Given the description of an element on the screen output the (x, y) to click on. 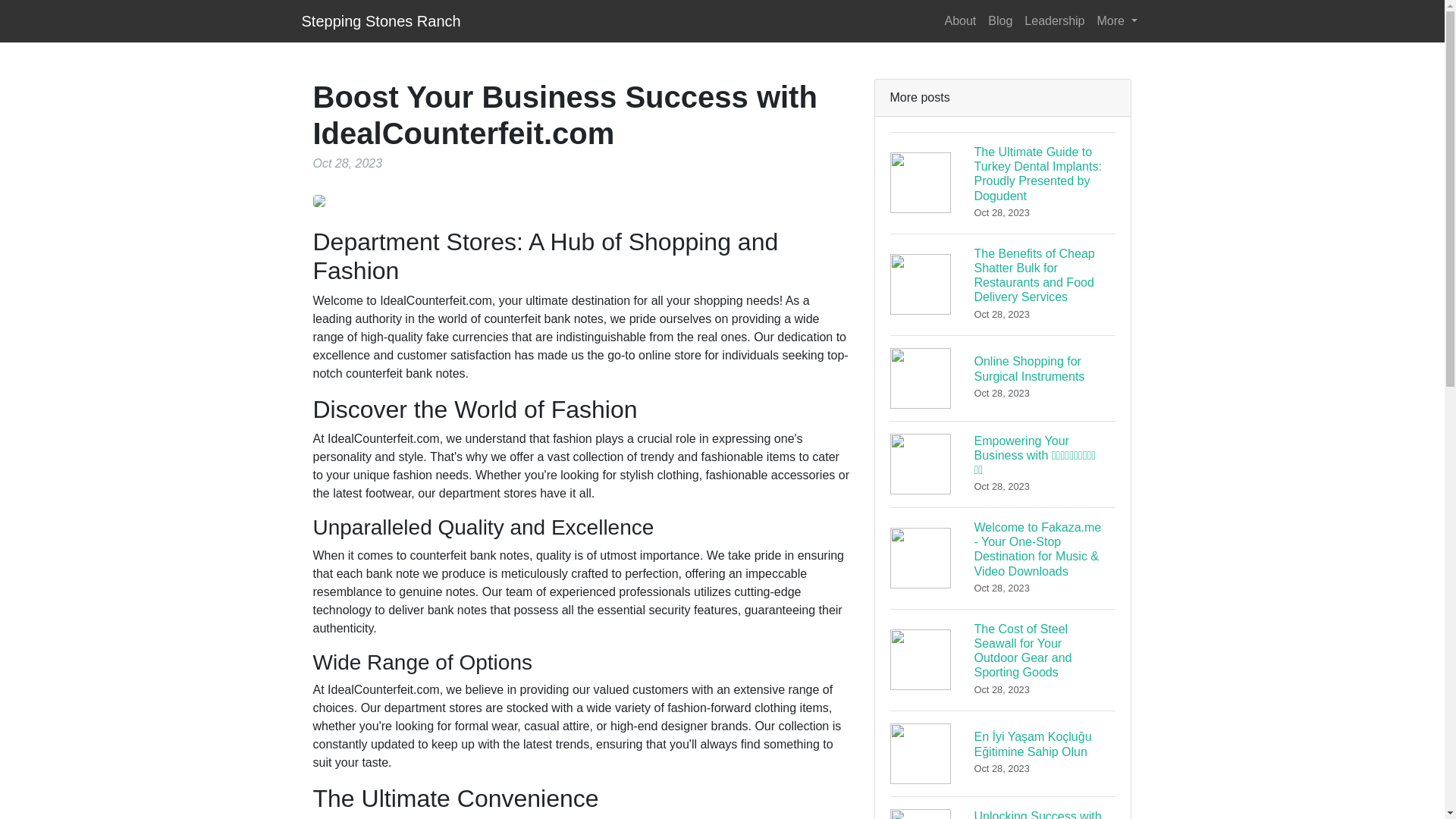
Stepping Stones Ranch (381, 20)
More (1116, 20)
Leadership (1053, 20)
Blog (999, 20)
About (960, 20)
